Given the description of an element on the screen output the (x, y) to click on. 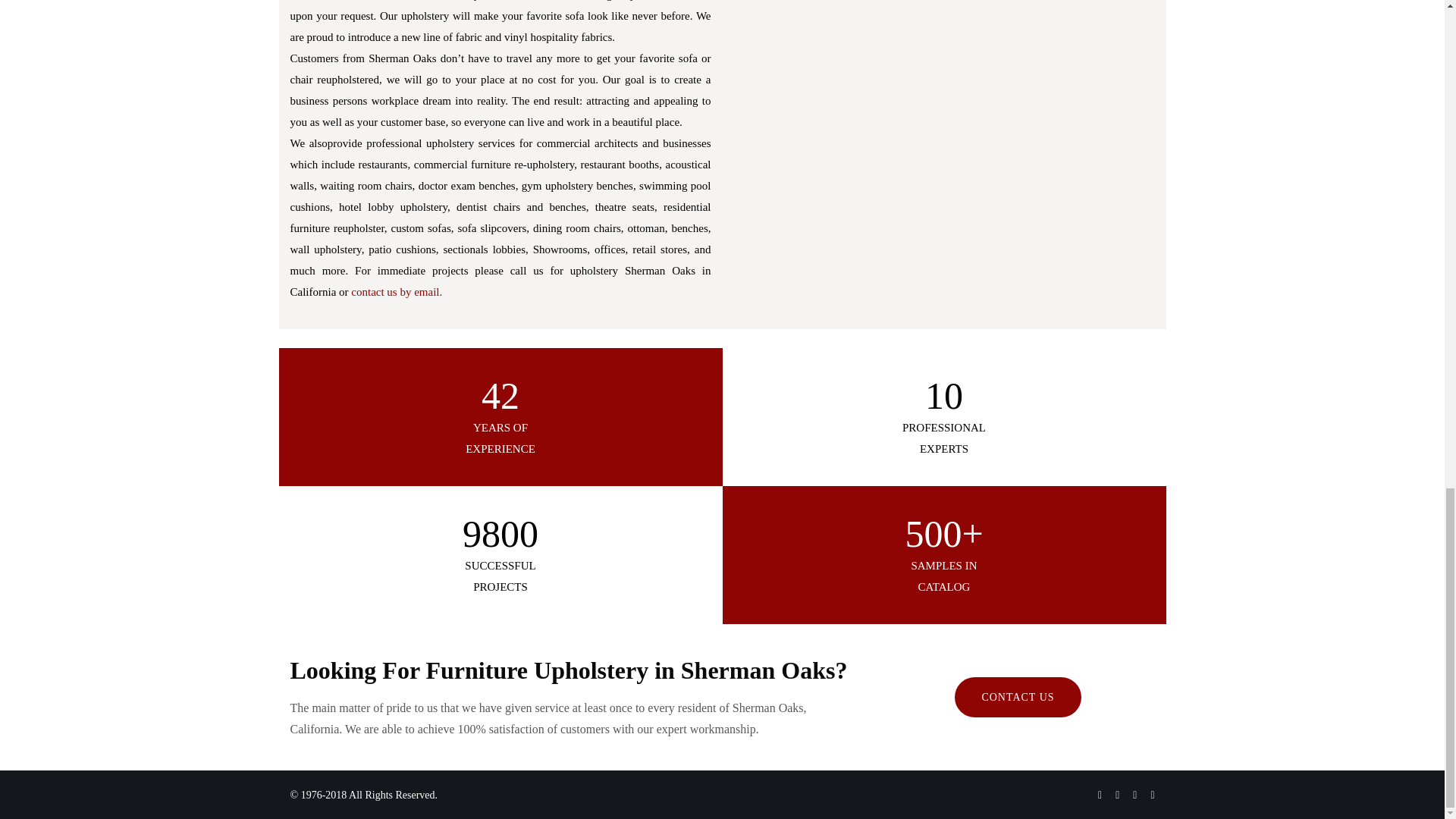
contact us by email. (396, 291)
CONTACT US (1017, 697)
